Given the description of an element on the screen output the (x, y) to click on. 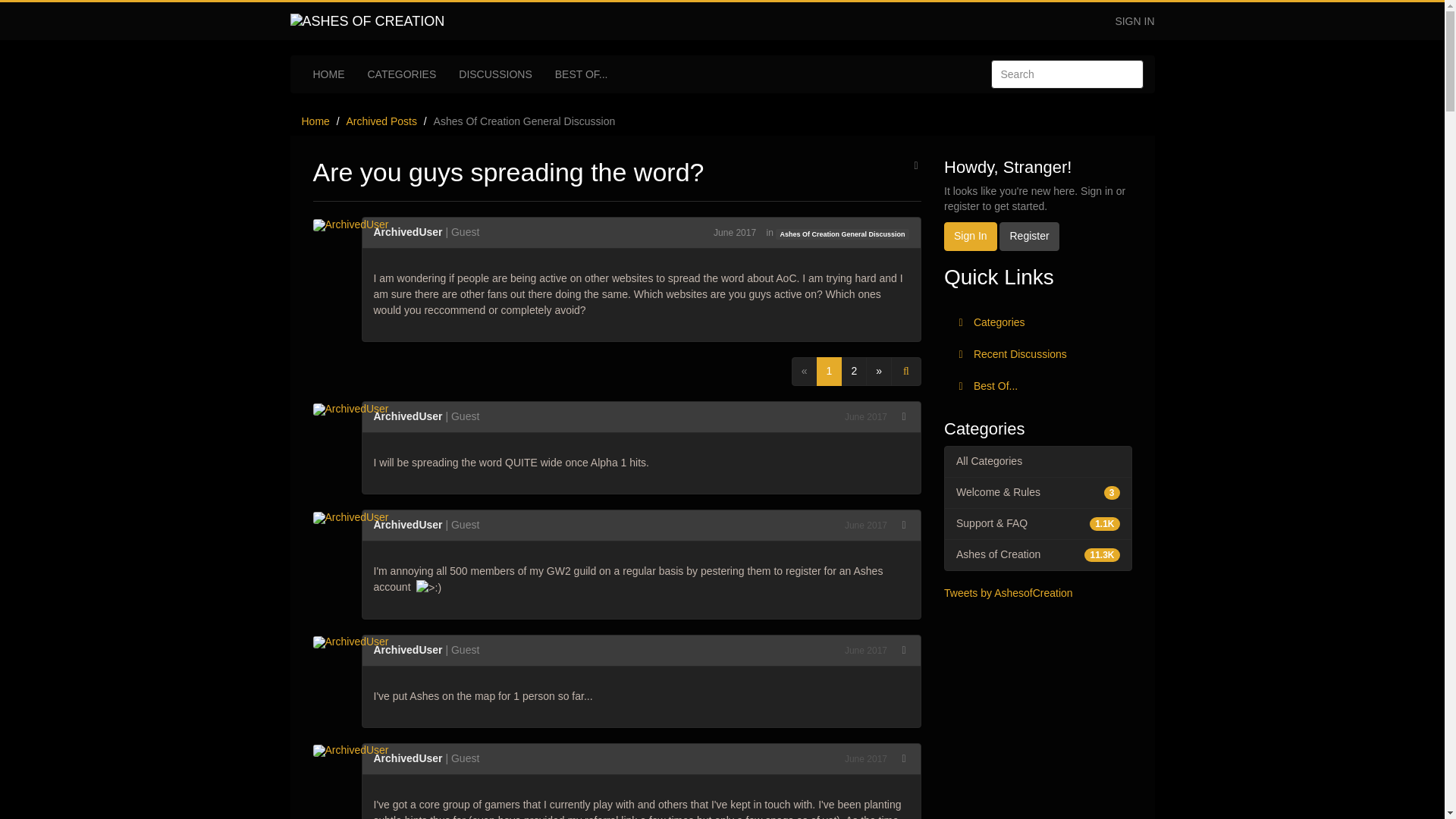
1 (829, 371)
June 13, 2017 3:08PM (865, 650)
Ashes Of Creation General Discussion (524, 121)
Enter your search term. (1066, 73)
June 2017 (865, 758)
June 13, 2017 3:12PM (865, 758)
Home (315, 121)
SIGN IN (1134, 21)
ArchivedUser (407, 649)
June 13, 2017 3:05PM (865, 416)
ArchivedUser (407, 758)
ArchivedUser (355, 642)
ArchivedUser (355, 750)
Archived Posts (381, 121)
ArchivedUser (355, 408)
